Given the description of an element on the screen output the (x, y) to click on. 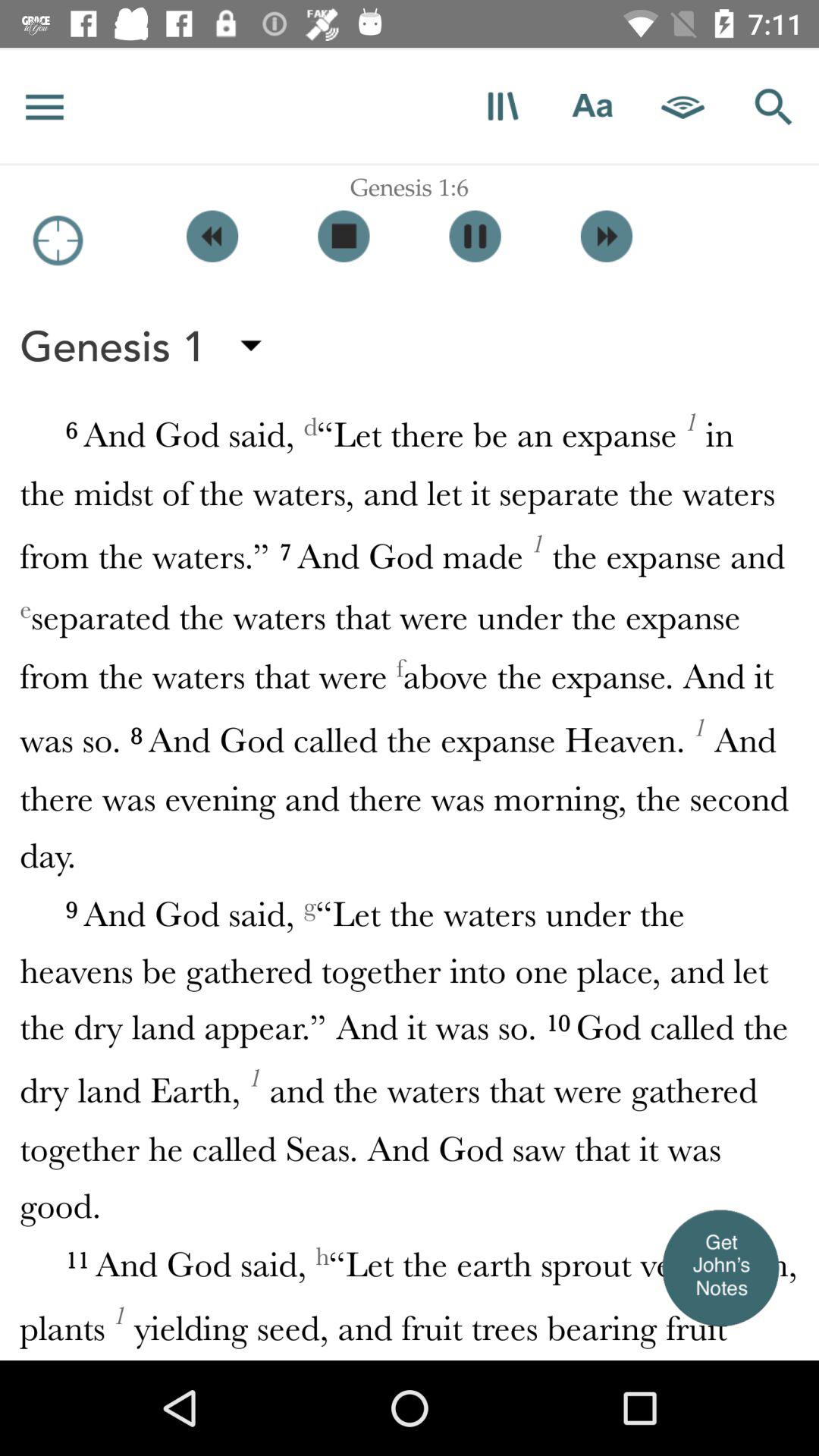
go to next (606, 236)
